Given the description of an element on the screen output the (x, y) to click on. 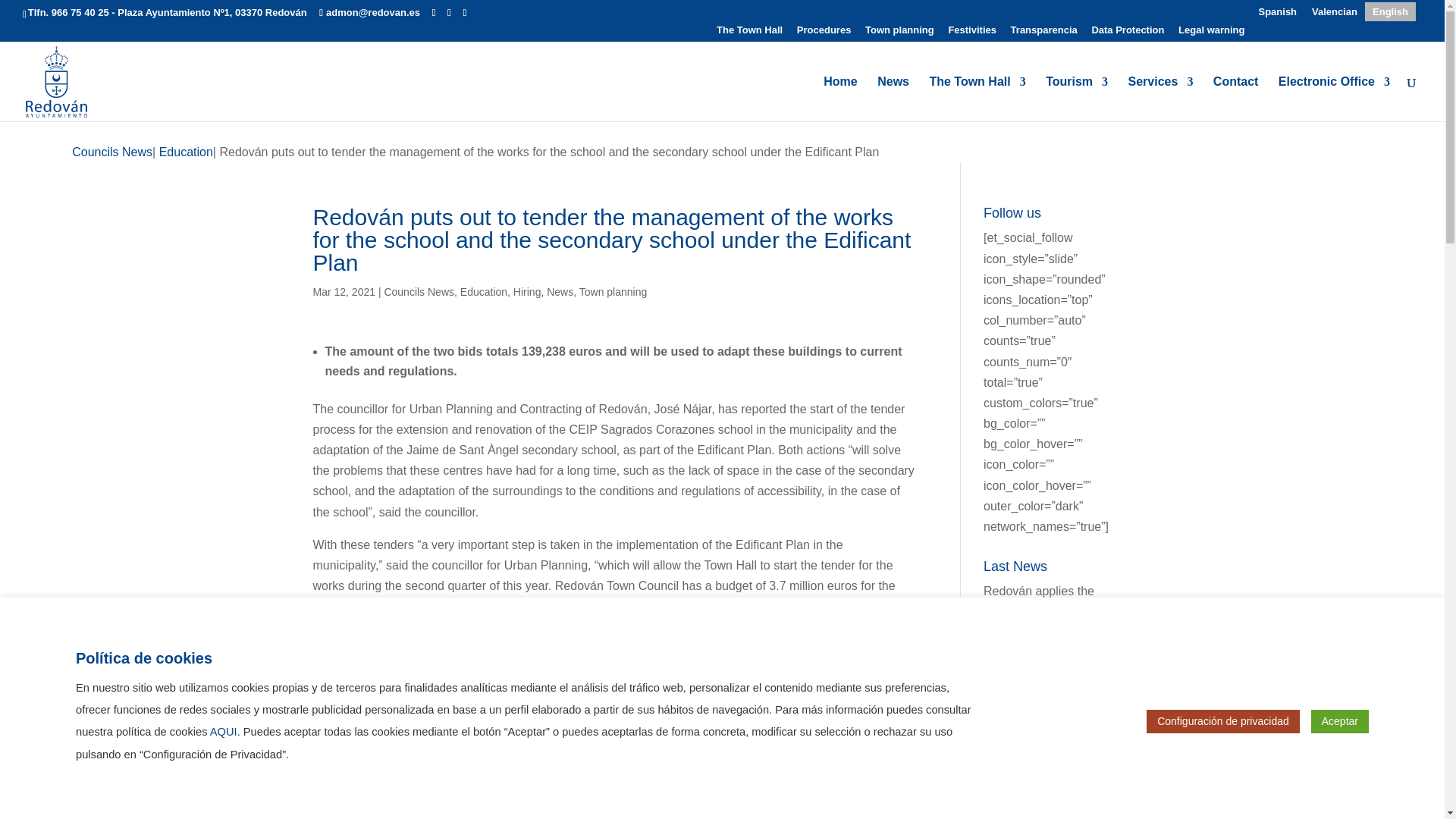
Data Protection (1126, 32)
The Town Hall (976, 98)
English (1390, 11)
Town planning (899, 32)
Spanish (1277, 11)
Tourism (1076, 98)
The Town Hall (749, 32)
Valencian (1334, 11)
Festivities (971, 32)
Transparencia (1043, 32)
Procedures (823, 32)
Legal warning (1210, 32)
